Given the description of an element on the screen output the (x, y) to click on. 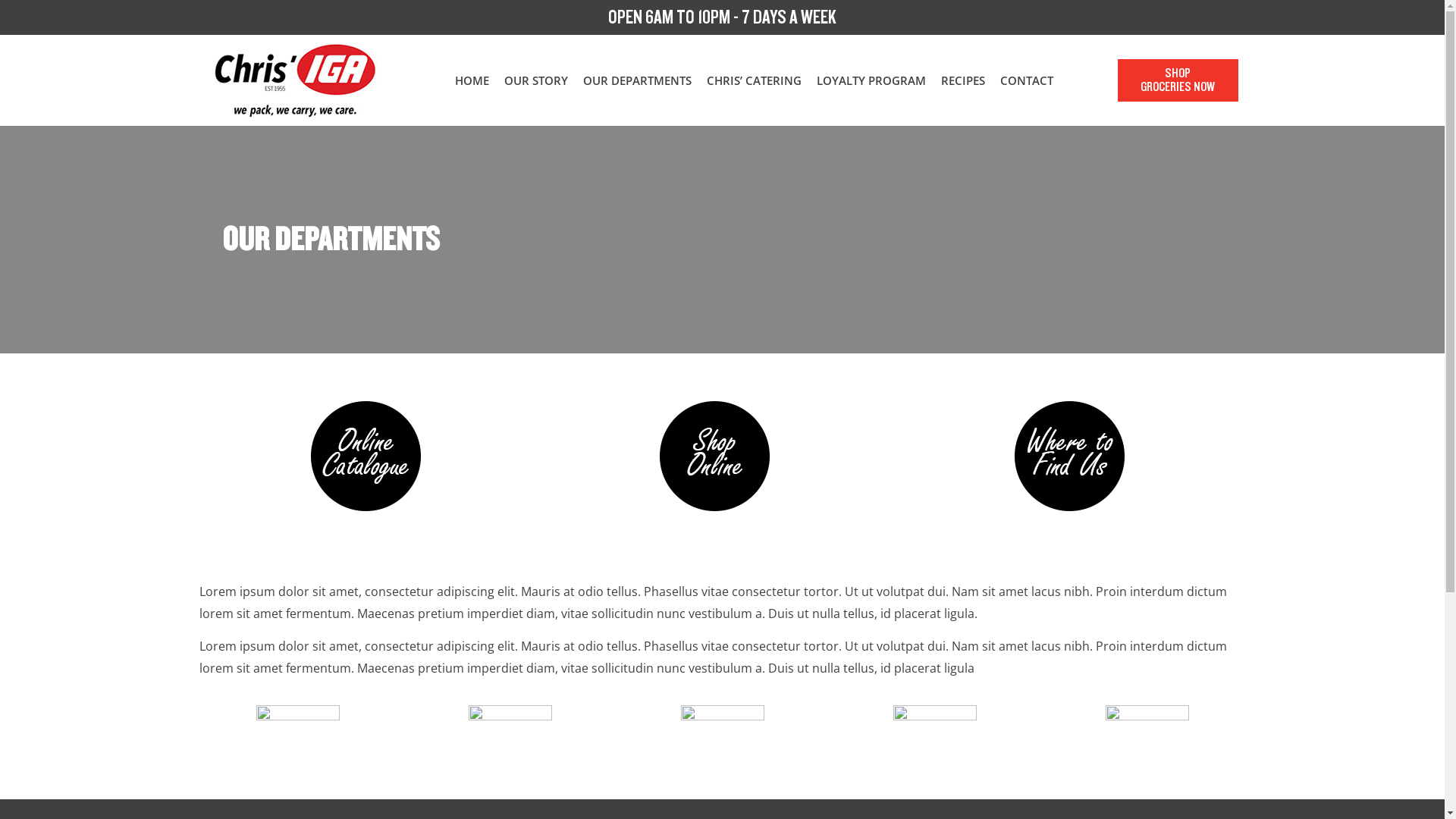
OUR DEPARTMENTS Element type: text (637, 79)
SHOP GROCERIES NOW Element type: text (1178, 80)
RECIPES Element type: text (962, 79)
OUR STORY Element type: text (535, 79)
CONTACT Element type: text (1026, 79)
LOYALTY PROGRAM Element type: text (871, 79)
HOME Element type: text (471, 79)
